Given the description of an element on the screen output the (x, y) to click on. 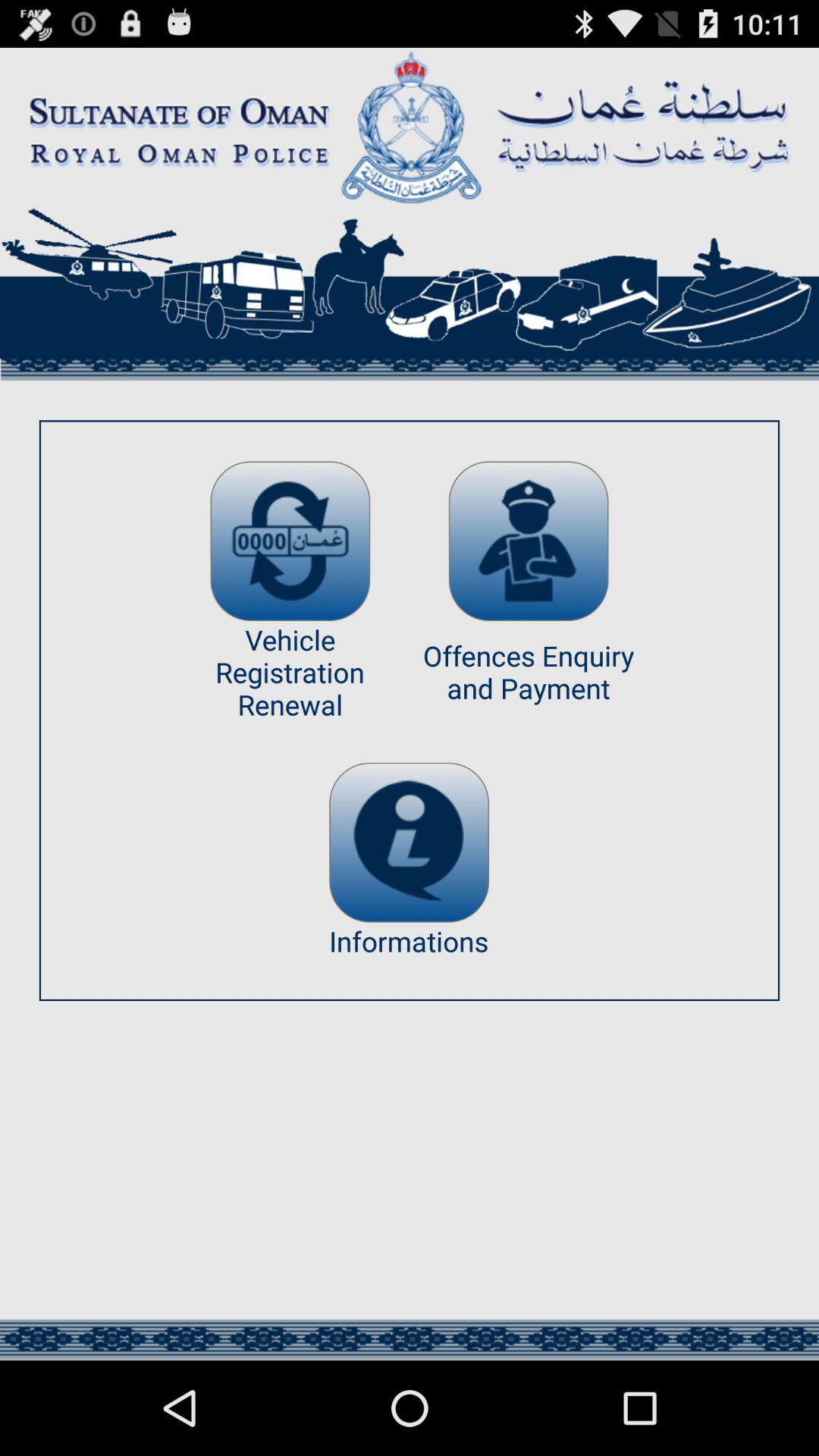
press the app to the right of the vehicle registration renewal (528, 541)
